Given the description of an element on the screen output the (x, y) to click on. 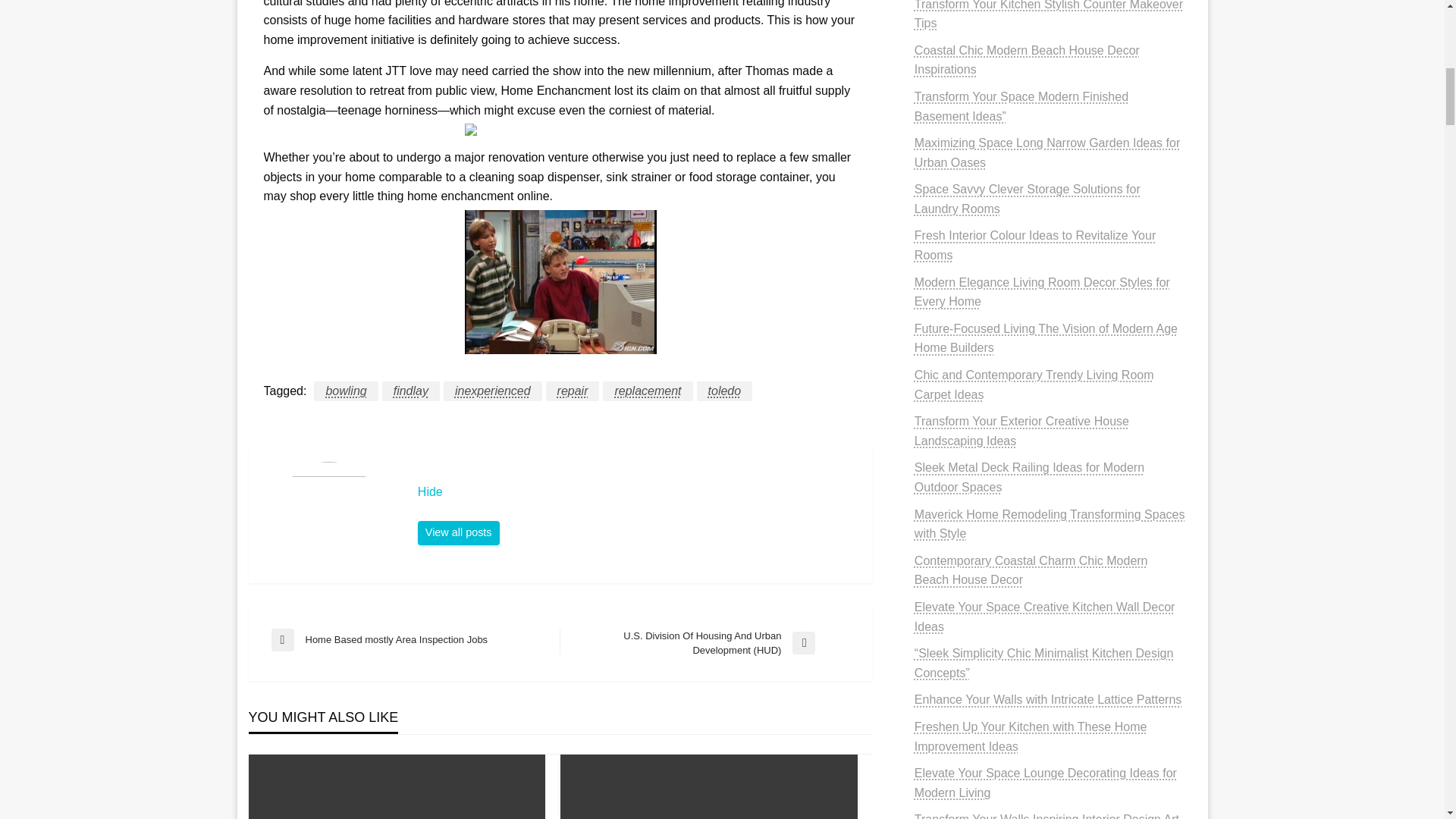
bowling (345, 391)
inexperienced (492, 391)
Hide (637, 491)
findlay (410, 391)
Hide (458, 532)
